Given the description of an element on the screen output the (x, y) to click on. 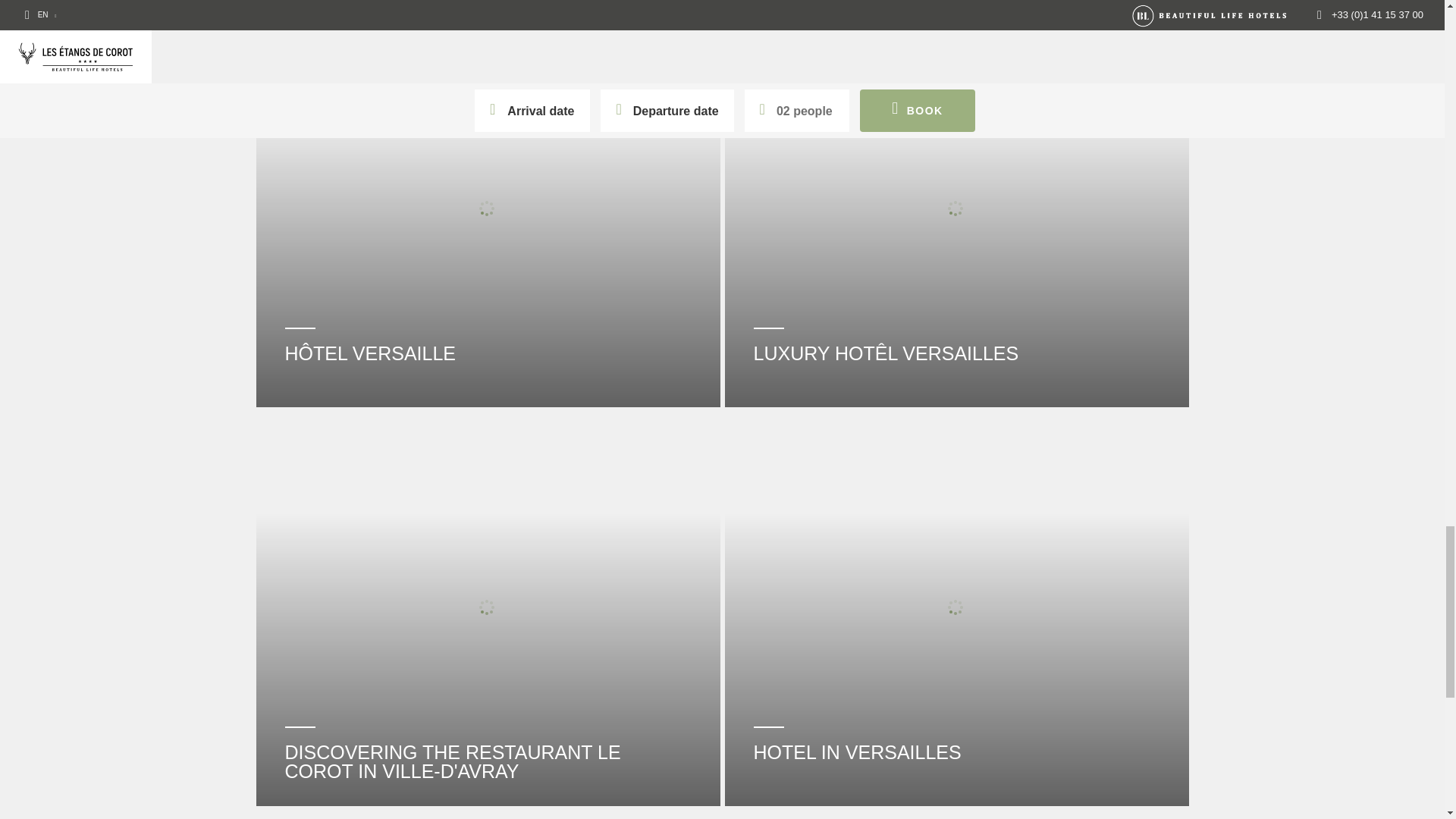
VILLE D'AVRAY (957, 4)
THE GARDENS OF VERSAILLES (488, 4)
